Given the description of an element on the screen output the (x, y) to click on. 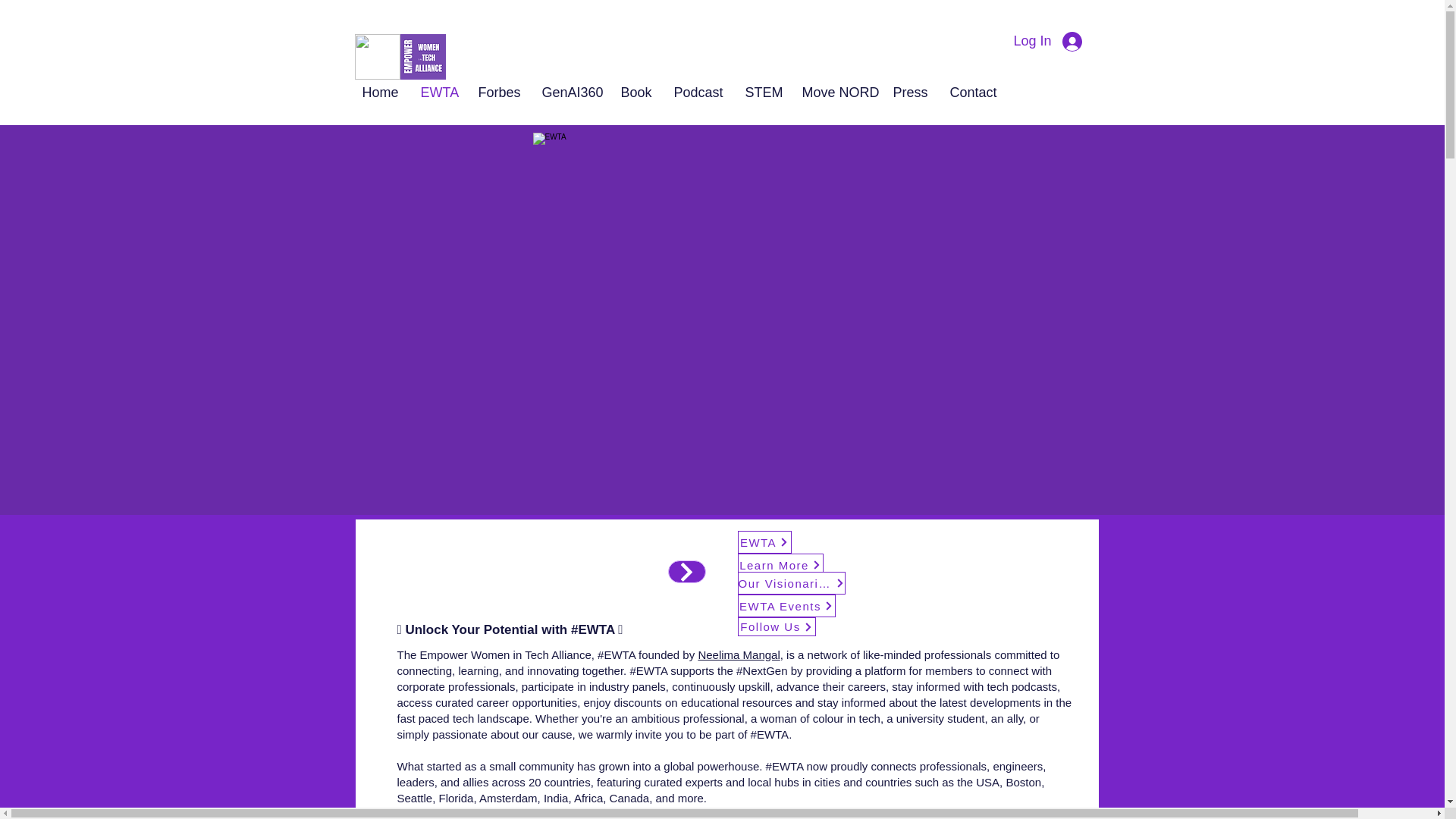
Home (379, 91)
Podcast (697, 91)
GenAI360 (570, 91)
Log In (1049, 41)
Move NORD (835, 91)
Press (908, 91)
Forbes (499, 91)
Contact (973, 91)
Book (636, 91)
STEM (761, 91)
EWTA (438, 91)
